Given the description of an element on the screen output the (x, y) to click on. 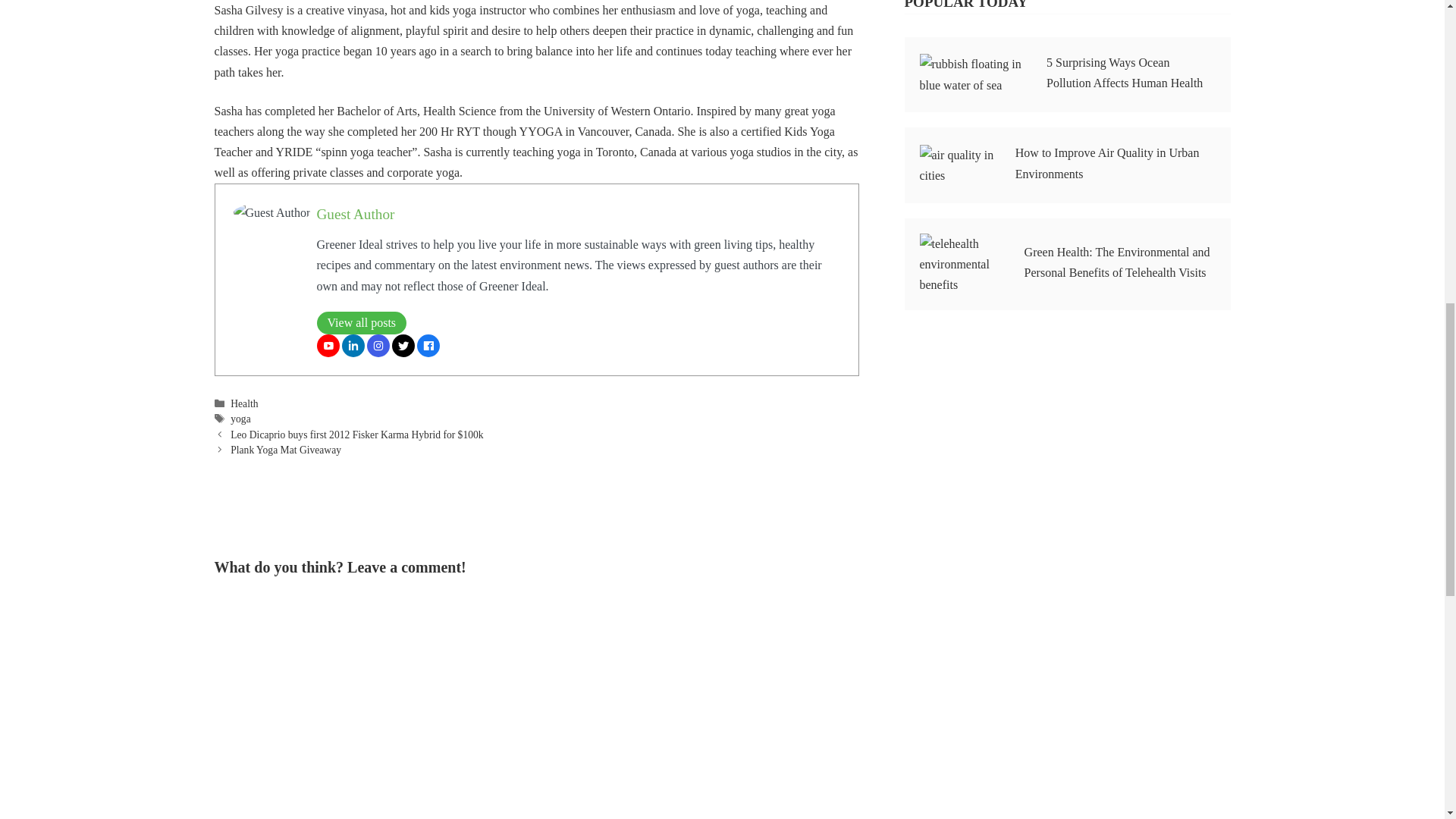
Guest Author (355, 213)
View all posts (362, 323)
